Given the description of an element on the screen output the (x, y) to click on. 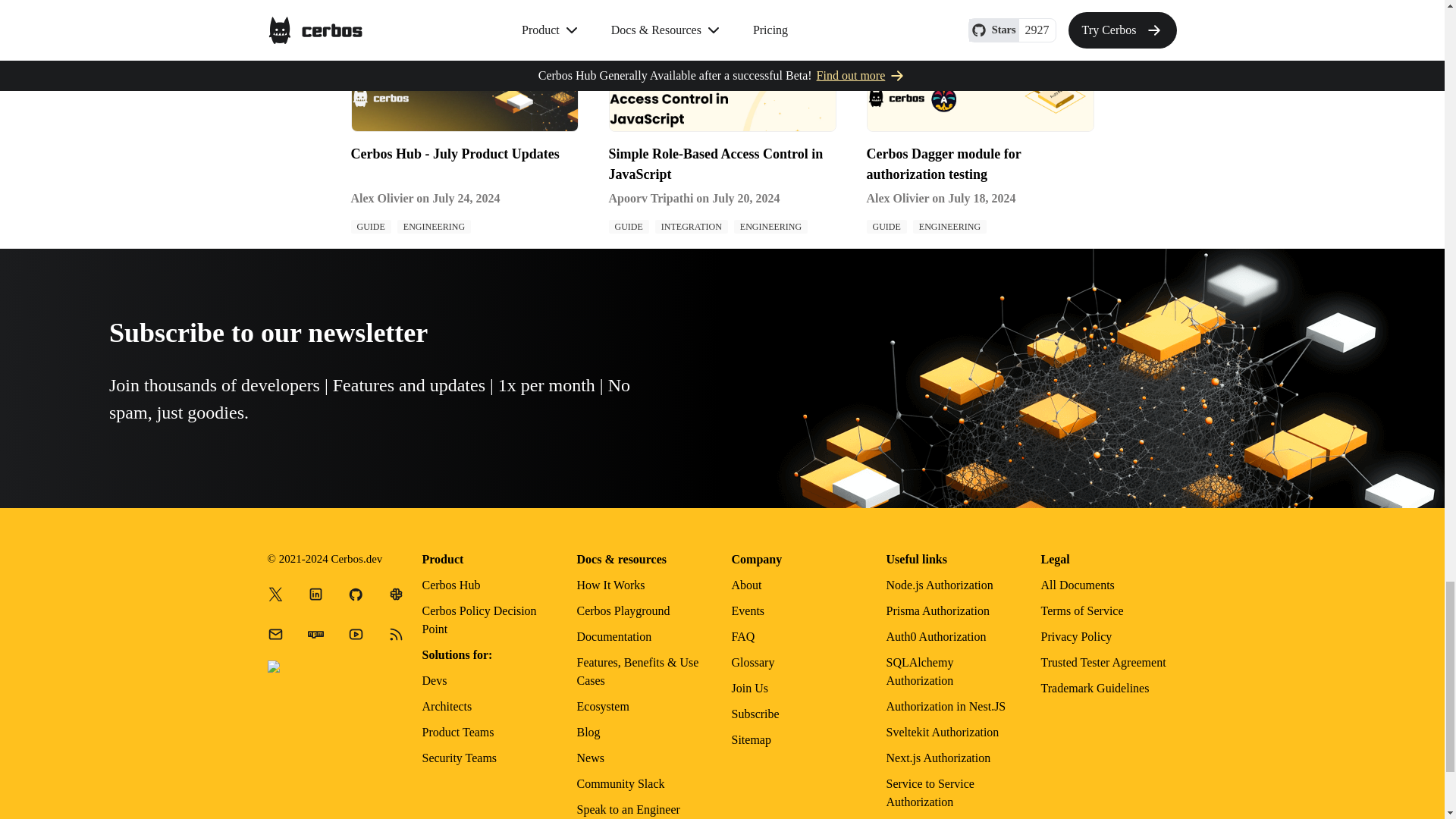
Product Teams (457, 731)
Devs (434, 680)
Security Teams (459, 757)
Cerbos Hub (451, 584)
Cerbos Policy Decision Point (478, 619)
Architects (446, 706)
Cerbos Playground (622, 610)
How It Works (610, 584)
